Given the description of an element on the screen output the (x, y) to click on. 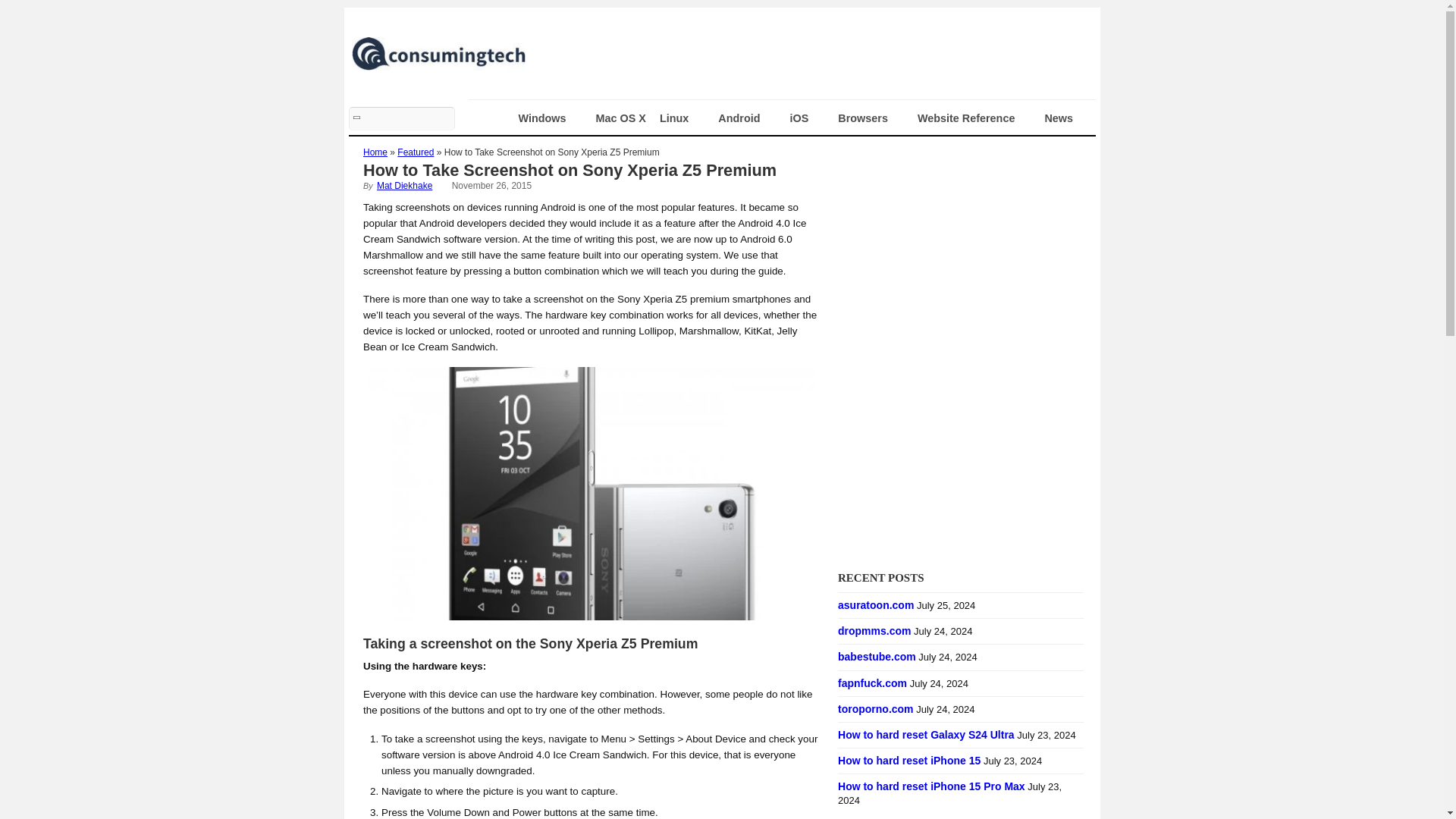
iOS (807, 118)
Featured (415, 152)
Android (746, 118)
Mat Diekhake (404, 185)
Home (374, 152)
News (1067, 118)
Consuming Tech (438, 64)
Linux (681, 118)
Windows (550, 118)
Search (401, 118)
Website Reference (974, 118)
Browsers (870, 118)
Mac OS X (620, 118)
